Given the description of an element on the screen output the (x, y) to click on. 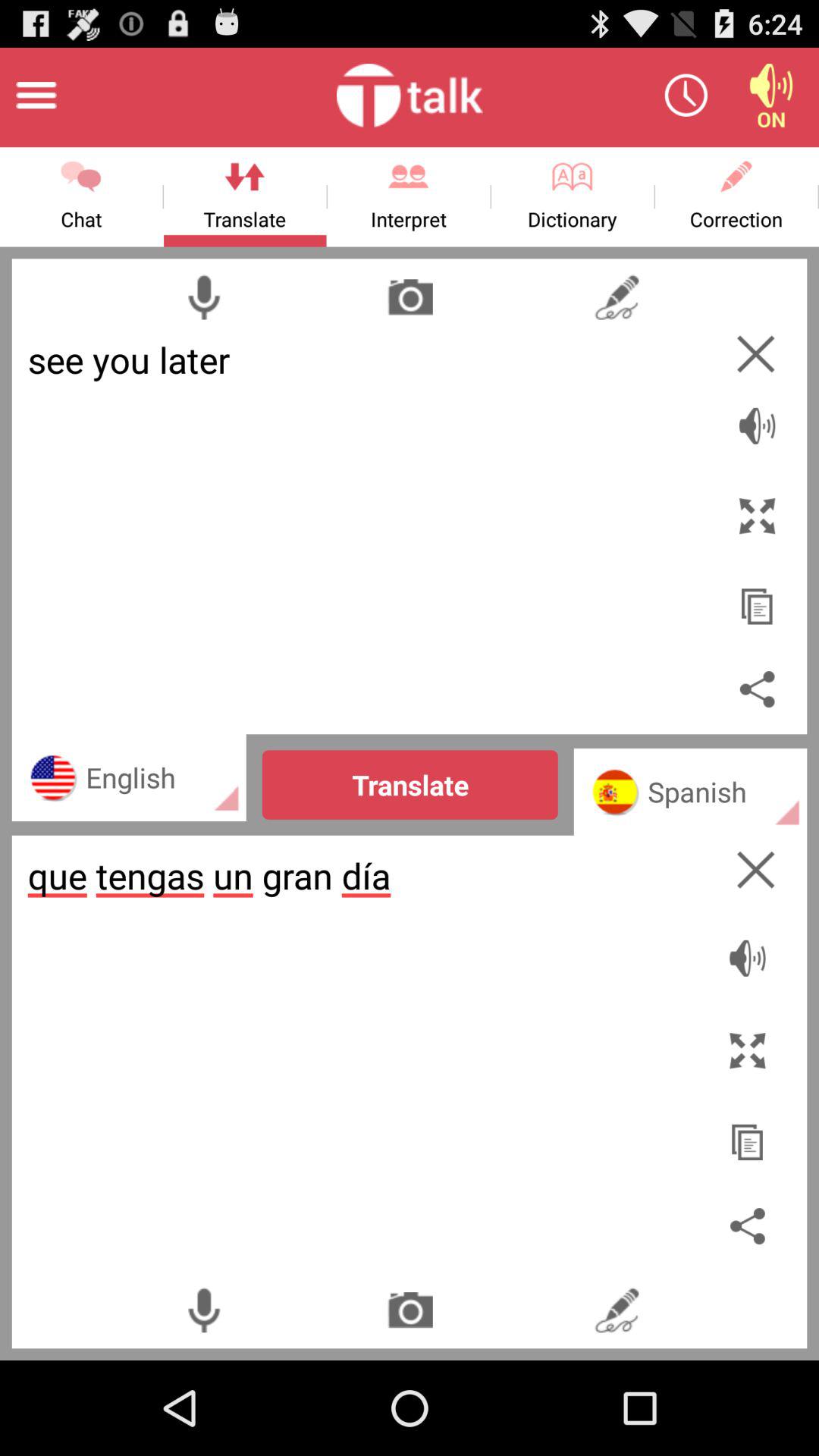
use your microphone to record (203, 1309)
